Given the description of an element on the screen output the (x, y) to click on. 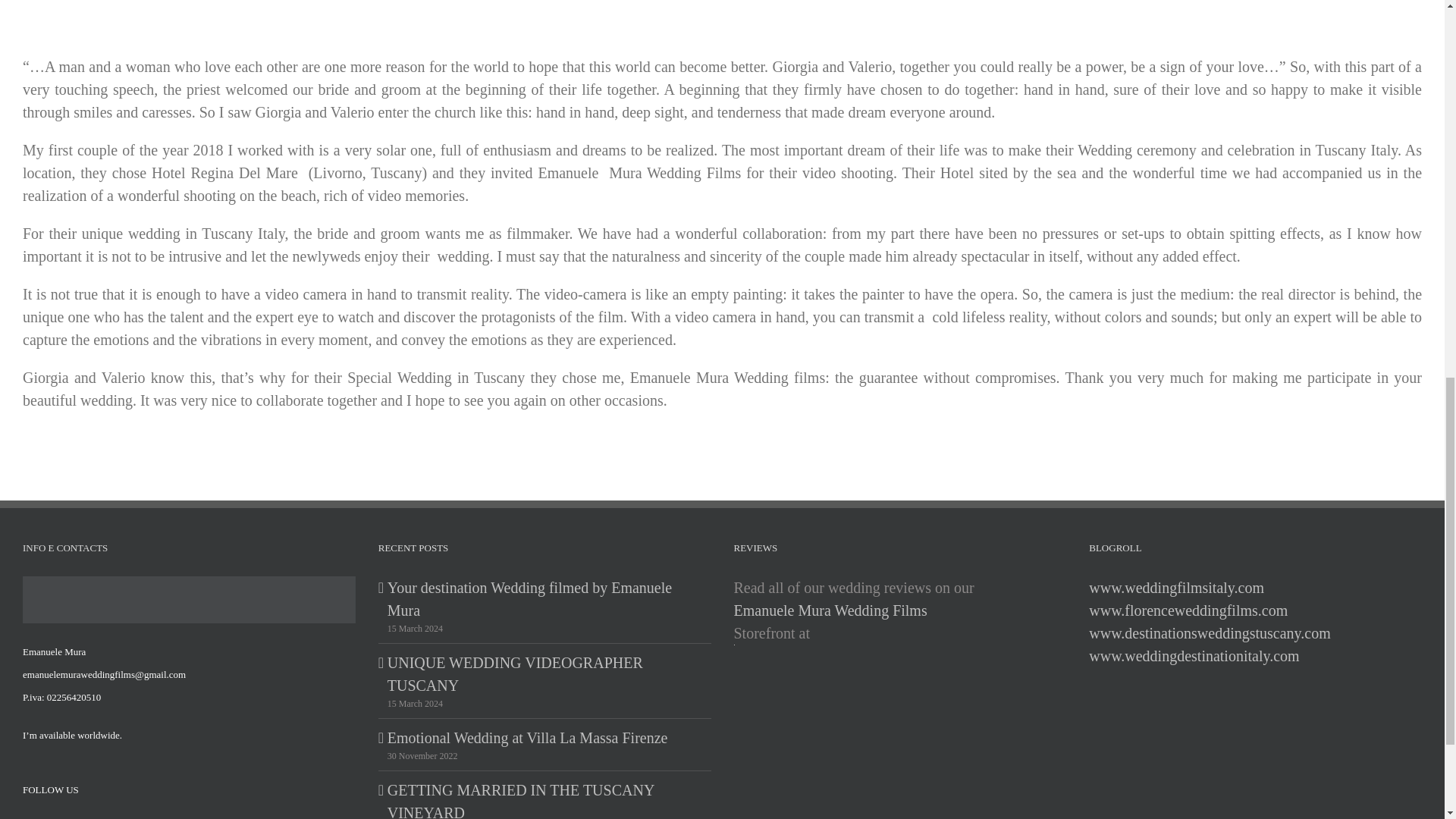
Your destination Wedding filmed by Emanuele Mura (545, 598)
Emanuele Mura Wedding Films (830, 610)
www.weddingdestinationitaly.com (1193, 655)
www.florenceweddingfilms.com (1188, 610)
www.weddingfilmsitaly.com (1176, 587)
GETTING MARRIED IN THE TUSCANY VINEYARD (545, 798)
Emotional Wedding at Villa La Massa Firenze (545, 737)
UNIQUE WEDDING VIDEOGRAPHER TUSCANY (545, 673)
www.destinationsweddingstuscany.com (1209, 632)
FOLLOW US (50, 789)
